Given the description of an element on the screen output the (x, y) to click on. 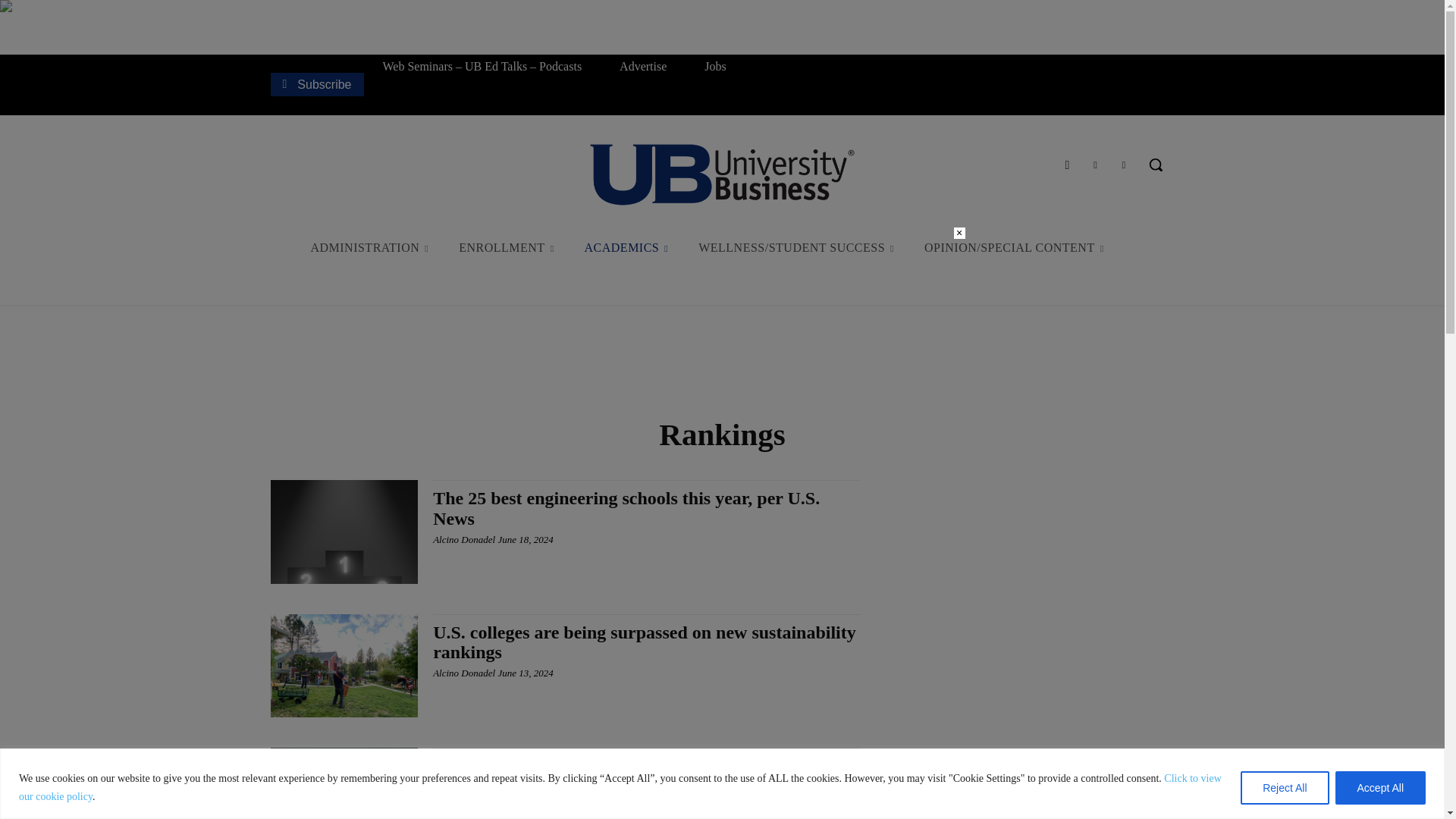
The 25 best engineering schools this year, per U.S. News (625, 507)
Linkedin (1123, 164)
The 25 best engineering schools this year, per U.S. News (343, 531)
Facebook (1067, 164)
Click to view our cookie policy (619, 786)
Accept All (1380, 786)
3rd party ad content (721, 363)
Reject All (1283, 786)
Twitter (1094, 164)
